Given the description of an element on the screen output the (x, y) to click on. 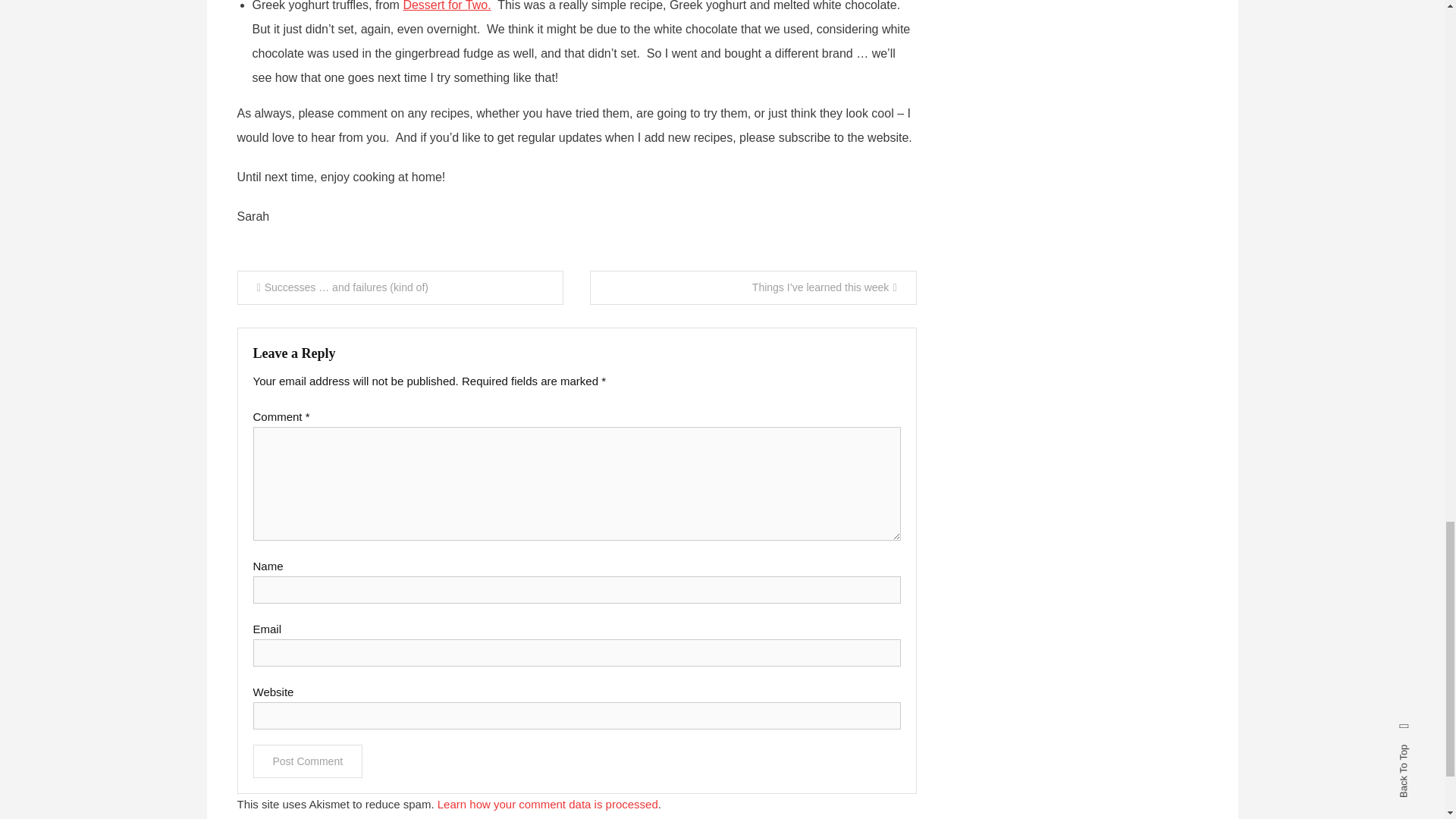
Post Comment (307, 761)
